Given the description of an element on the screen output the (x, y) to click on. 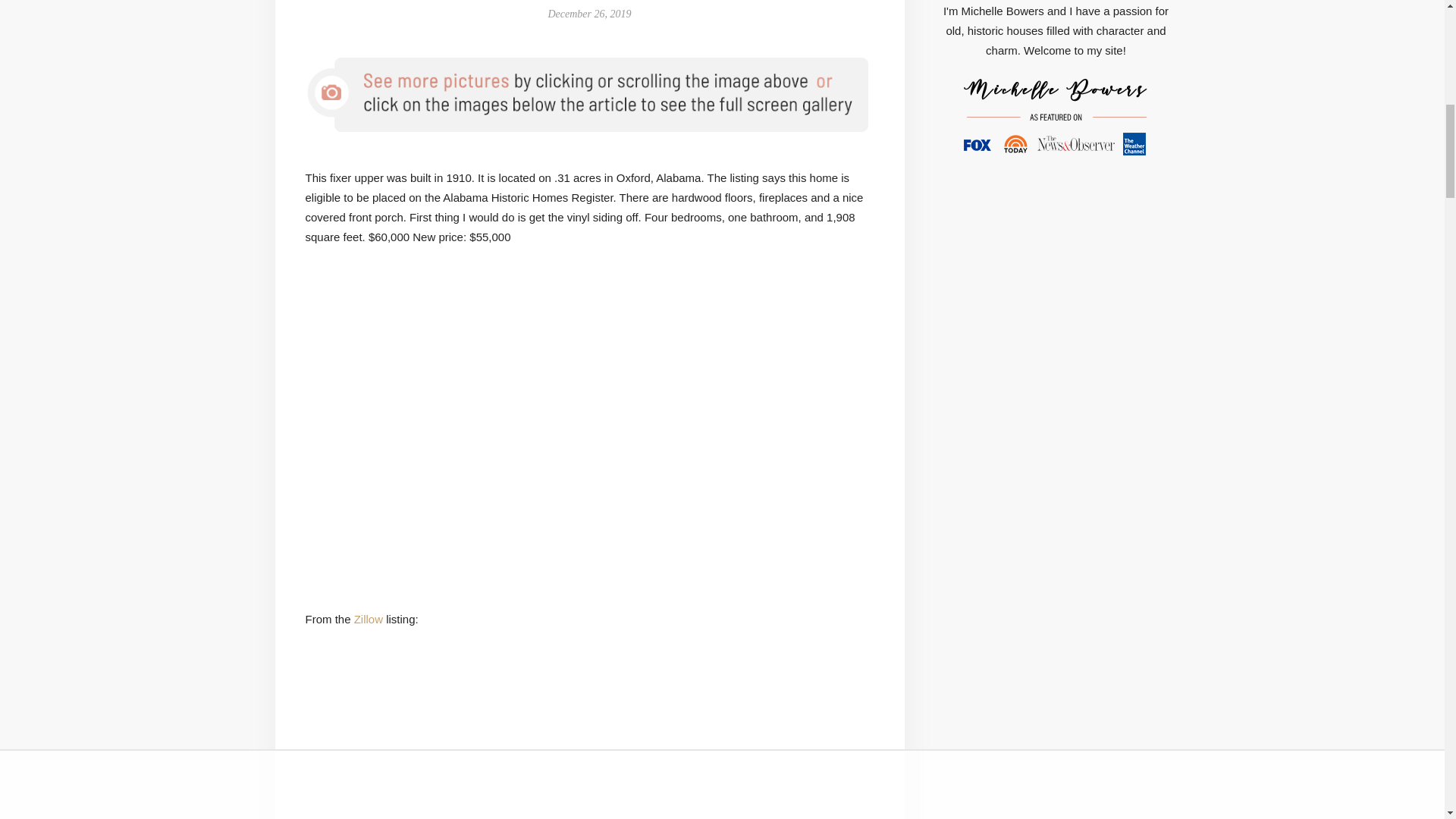
Zillow (367, 618)
December 26, 2019 (588, 13)
